Given the description of an element on the screen output the (x, y) to click on. 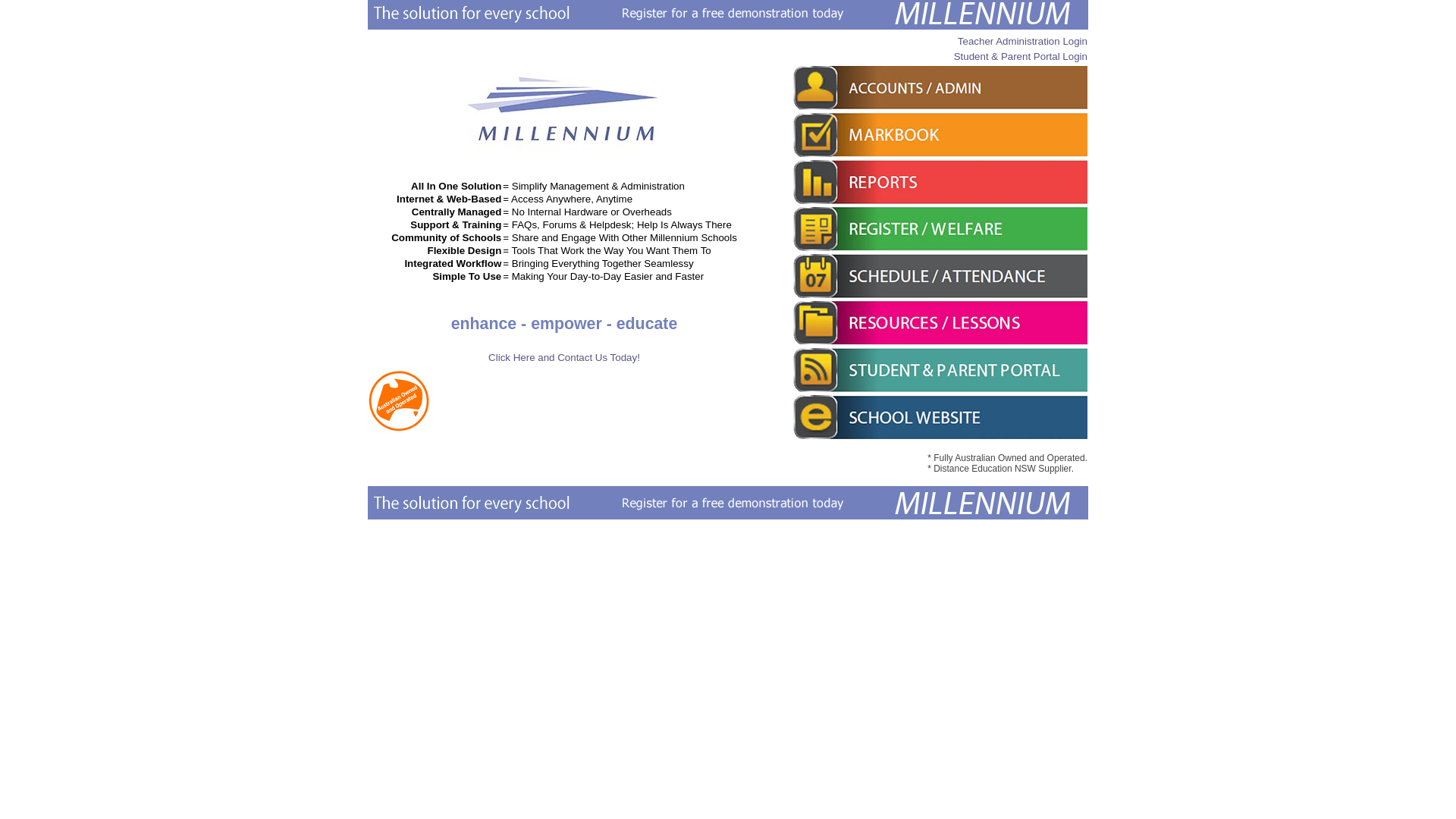
Register for a free demonstration Element type: hover (727, 502)
Resources / Calendar Element type: hover (939, 323)
Accounts & Users Element type: hover (939, 87)
Student & Parent Portal Login Element type: text (1020, 56)
Home Element type: hover (563, 153)
Teacher Administration Login Element type: text (1022, 41)
Markbook Element type: hover (939, 134)
Student / Parent Portal Element type: hover (939, 370)
Click Here and Contact Us Today! Element type: text (564, 357)
Register / Welfare Element type: hover (939, 229)
School Website Element type: hover (939, 417)
Schedule / Attendance Element type: hover (939, 276)
Reports Element type: hover (939, 181)
